Given the description of an element on the screen output the (x, y) to click on. 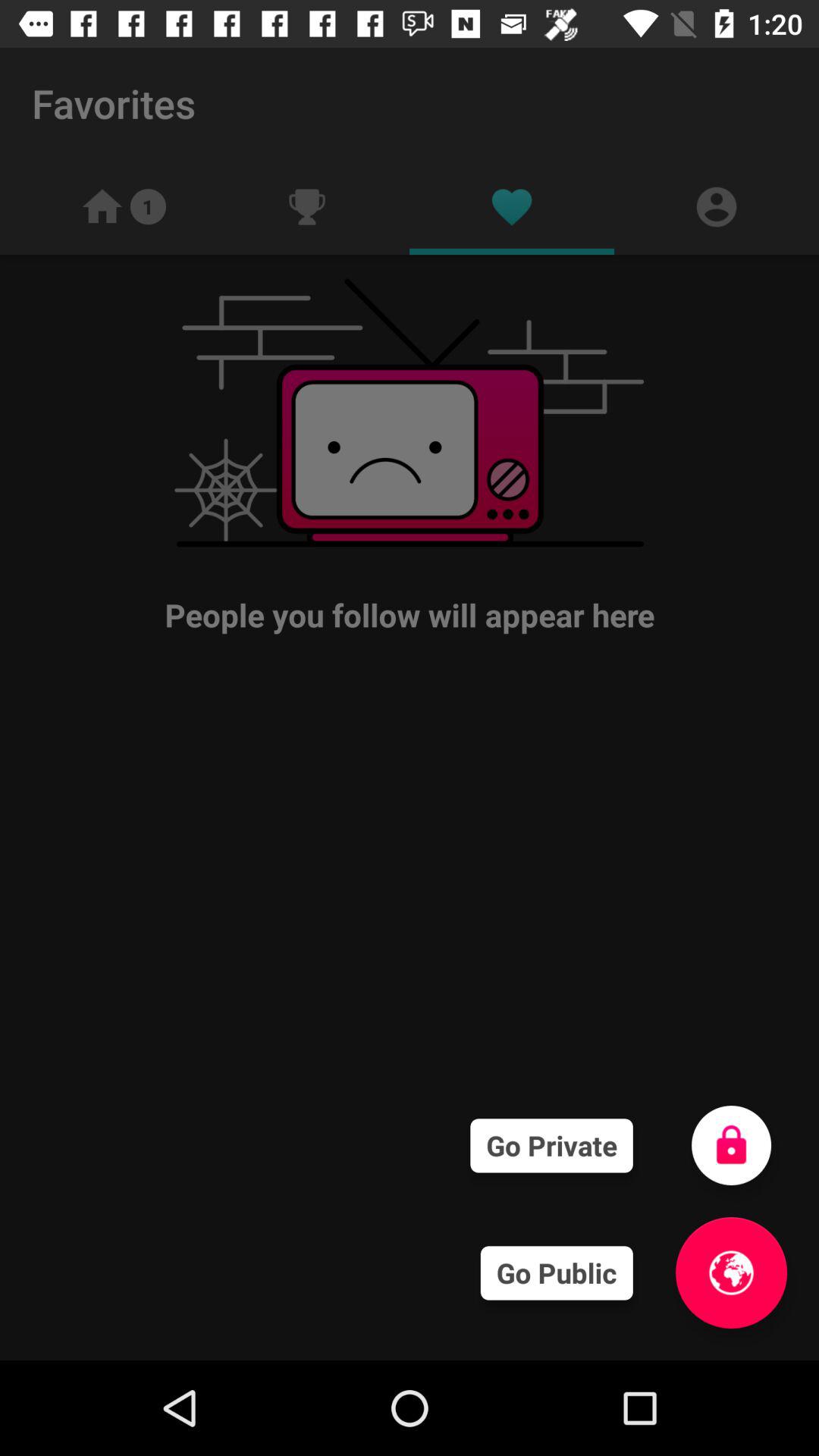
choose the people you follow item (409, 455)
